Given the description of an element on the screen output the (x, y) to click on. 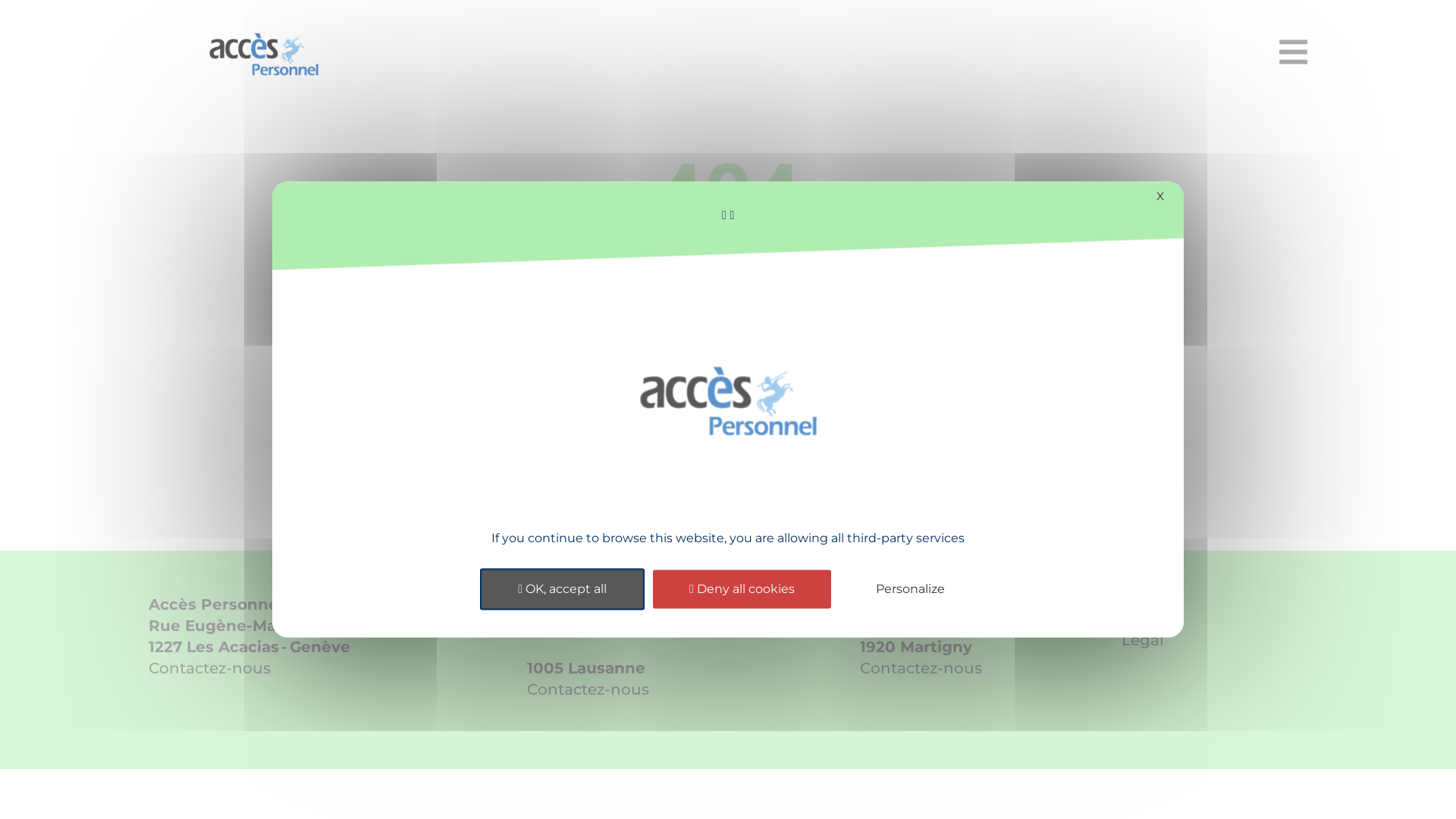
Contactez-nous Element type: text (588, 689)
Contactez-nous Element type: text (209, 667)
Cookies Element type: text (1195, 614)
Contact Element type: text (1132, 417)
Nos services Element type: text (669, 417)
Personalize Element type: text (910, 589)
Contactez-nous Element type: text (920, 667)
Deny all cookies Element type: text (741, 589)
Nos agences Element type: text (836, 417)
OK, accept all Element type: text (562, 589)
